Given the description of an element on the screen output the (x, y) to click on. 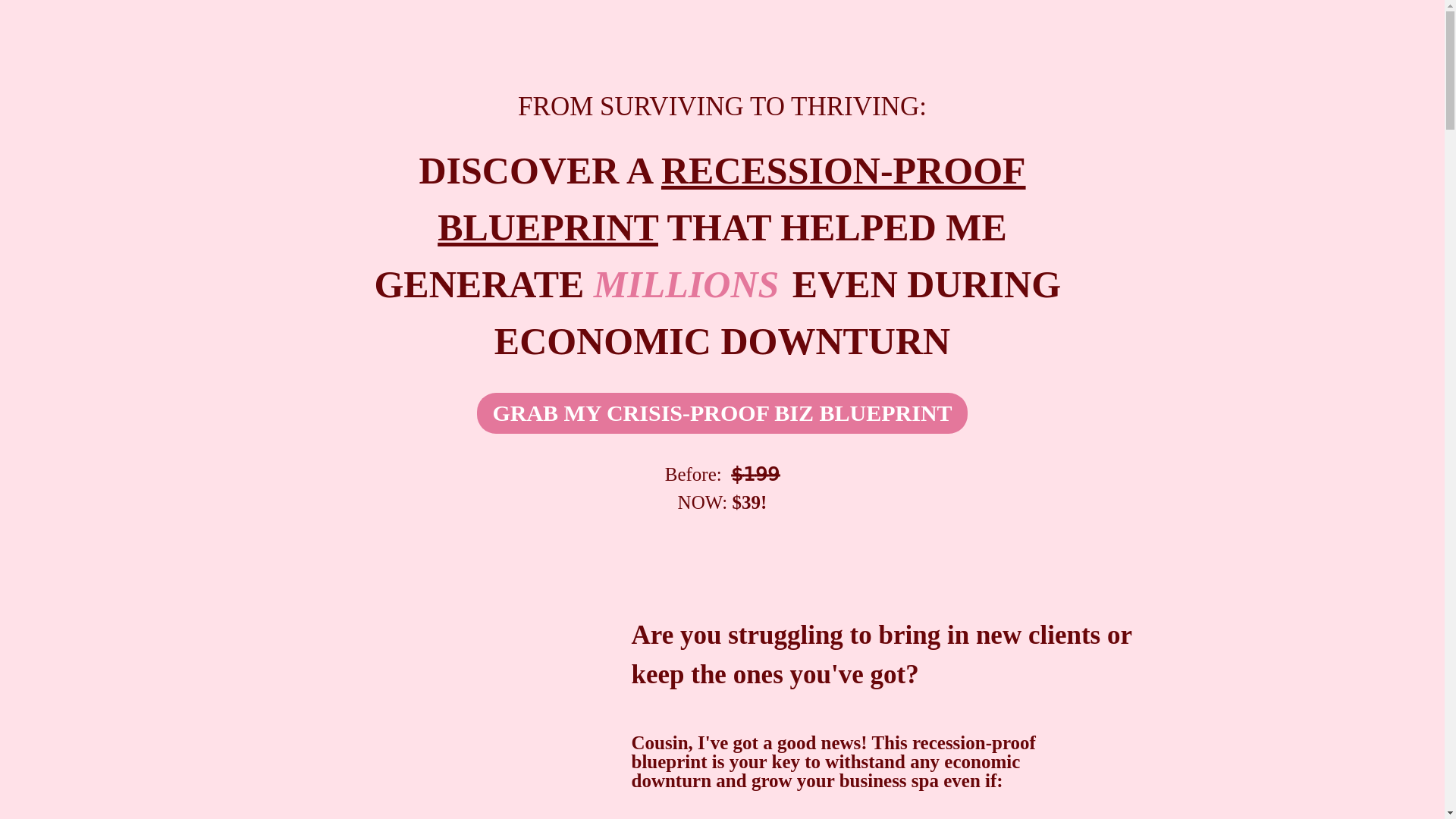
GRAB MY CRISIS-PROOF BIZ BLUEPRINT (721, 413)
